Given the description of an element on the screen output the (x, y) to click on. 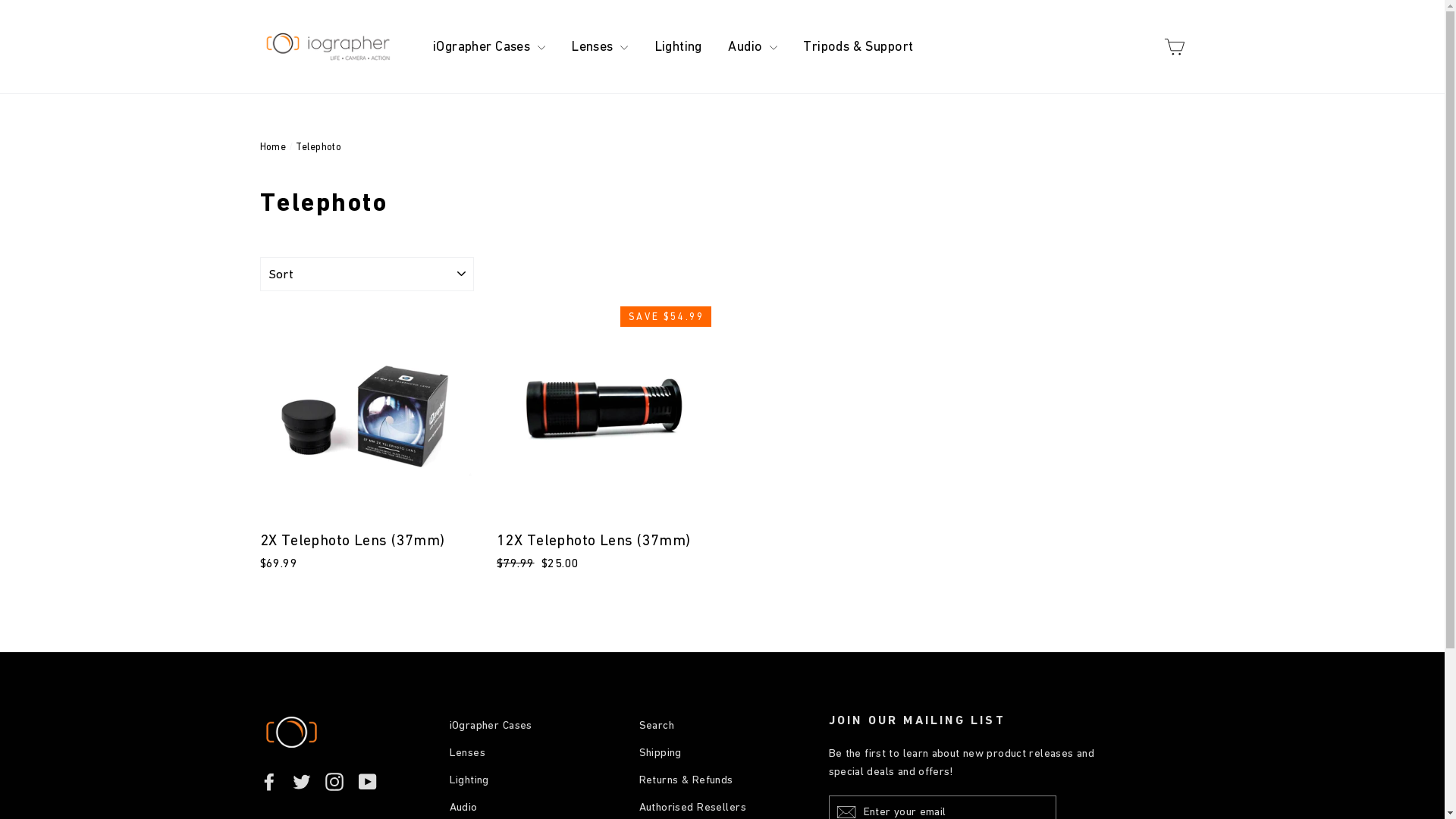
Returns & Refunds Element type: text (721, 779)
Tripods & Support Element type: text (857, 46)
Lighting Element type: text (678, 46)
Search Element type: text (721, 724)
Shipping Element type: text (721, 752)
Facebook Element type: text (268, 780)
Lenses Element type: text (531, 752)
Skip to content Element type: text (0, 0)
Cart Element type: text (1173, 46)
iOgrapher Cases Element type: text (488, 46)
iOgrapher Cases Element type: text (531, 724)
Audio Element type: text (752, 46)
Instagram Element type: text (334, 780)
Lenses Element type: text (599, 46)
Lighting Element type: text (531, 779)
Home Element type: text (272, 146)
Twitter Element type: text (301, 780)
2X Telephoto Lens (37mm)
$69.99 Element type: text (366, 441)
YouTube Element type: text (367, 780)
